Given the description of an element on the screen output the (x, y) to click on. 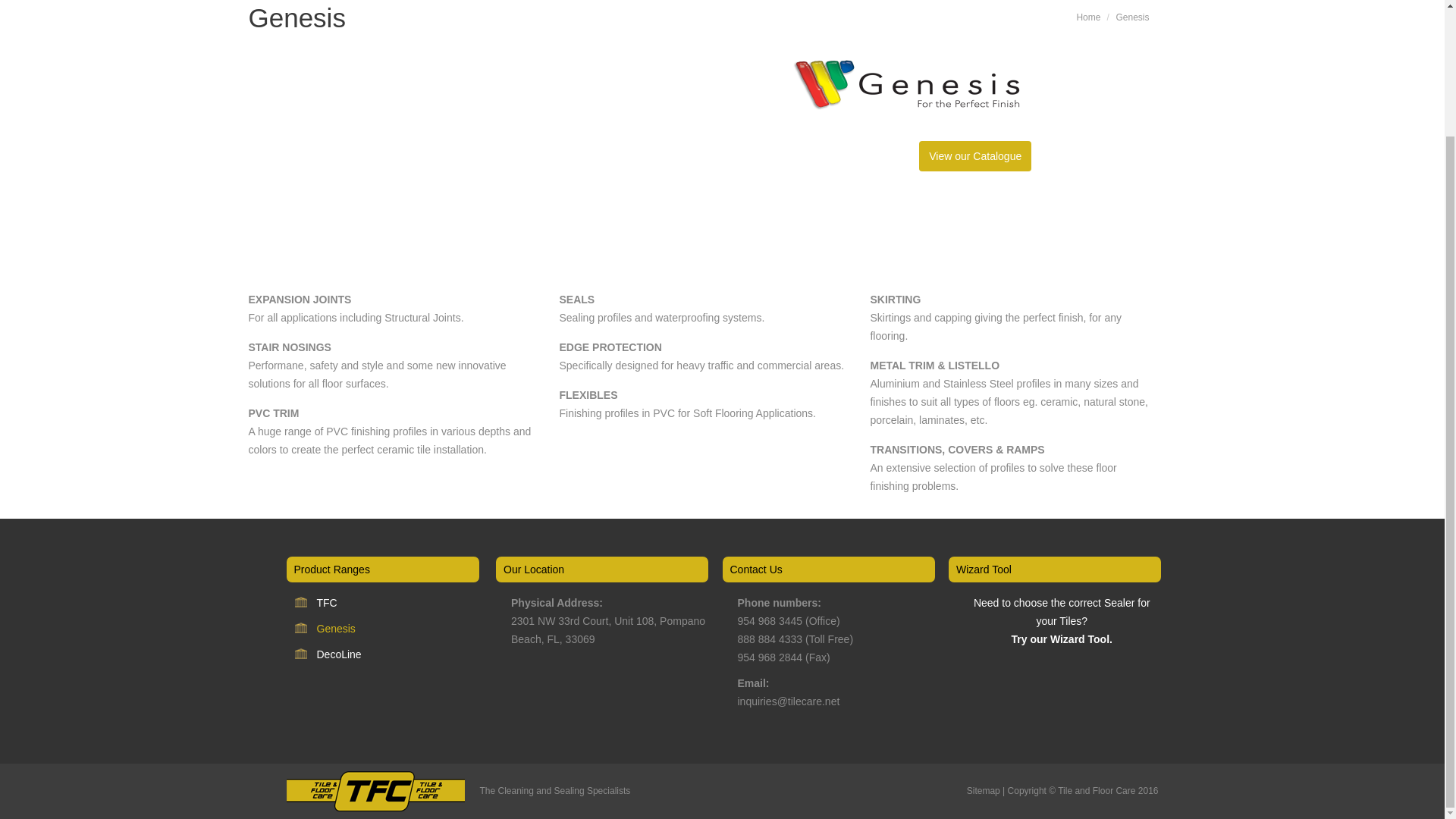
View our Catalogue (974, 155)
Home (1087, 17)
TFC (327, 602)
Genesis (336, 628)
DecoLine (339, 654)
Site Map (983, 790)
Home (1087, 17)
Genesis (906, 84)
